Given the description of an element on the screen output the (x, y) to click on. 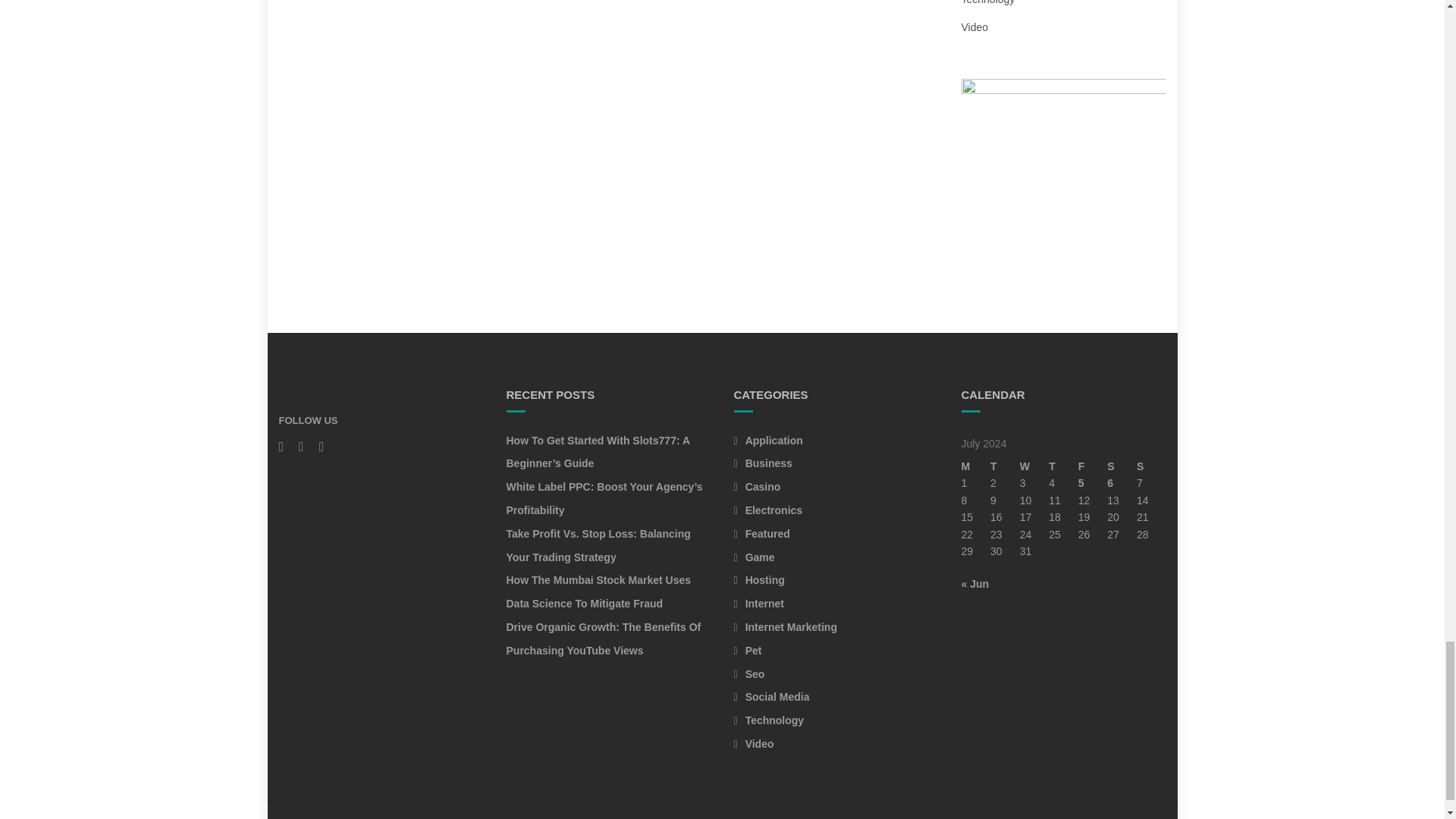
Sunday (1151, 466)
Thursday (1063, 466)
Saturday (1121, 466)
Tuesday (1005, 466)
Wednesday (1034, 466)
Monday (975, 466)
Friday (1093, 466)
